Given the description of an element on the screen output the (x, y) to click on. 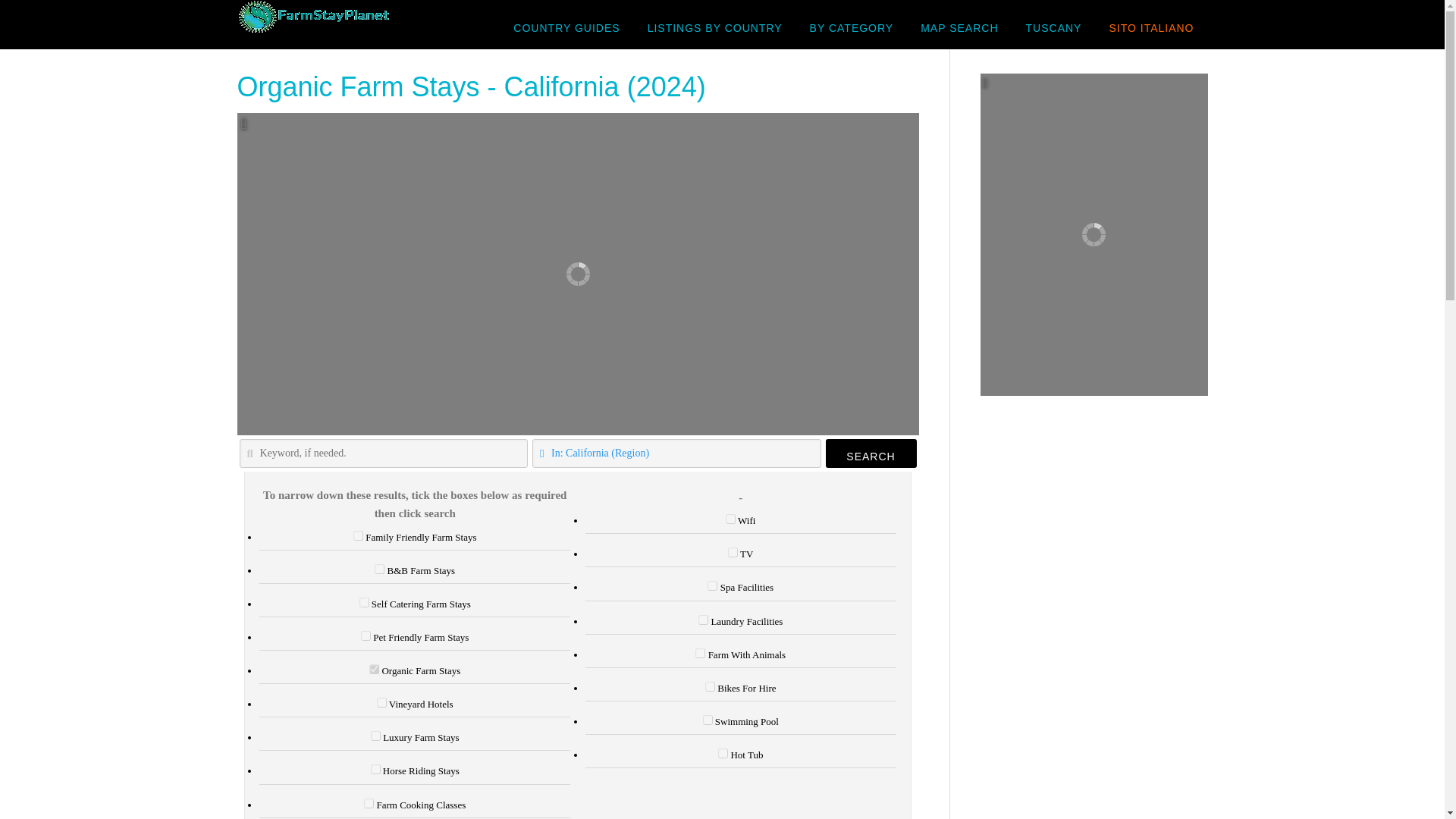
193 (364, 602)
197 (369, 803)
TV (733, 552)
3276 (357, 535)
196 (375, 768)
194 (366, 635)
192 (379, 569)
191 (373, 669)
Bikes For Hire (709, 686)
Wifi (730, 519)
Laundry Facilities (702, 619)
LISTINGS BY COUNTRY (714, 27)
Farm With Animals (699, 653)
FARM STAY PLANET (357, 24)
198 (382, 702)
